Given the description of an element on the screen output the (x, y) to click on. 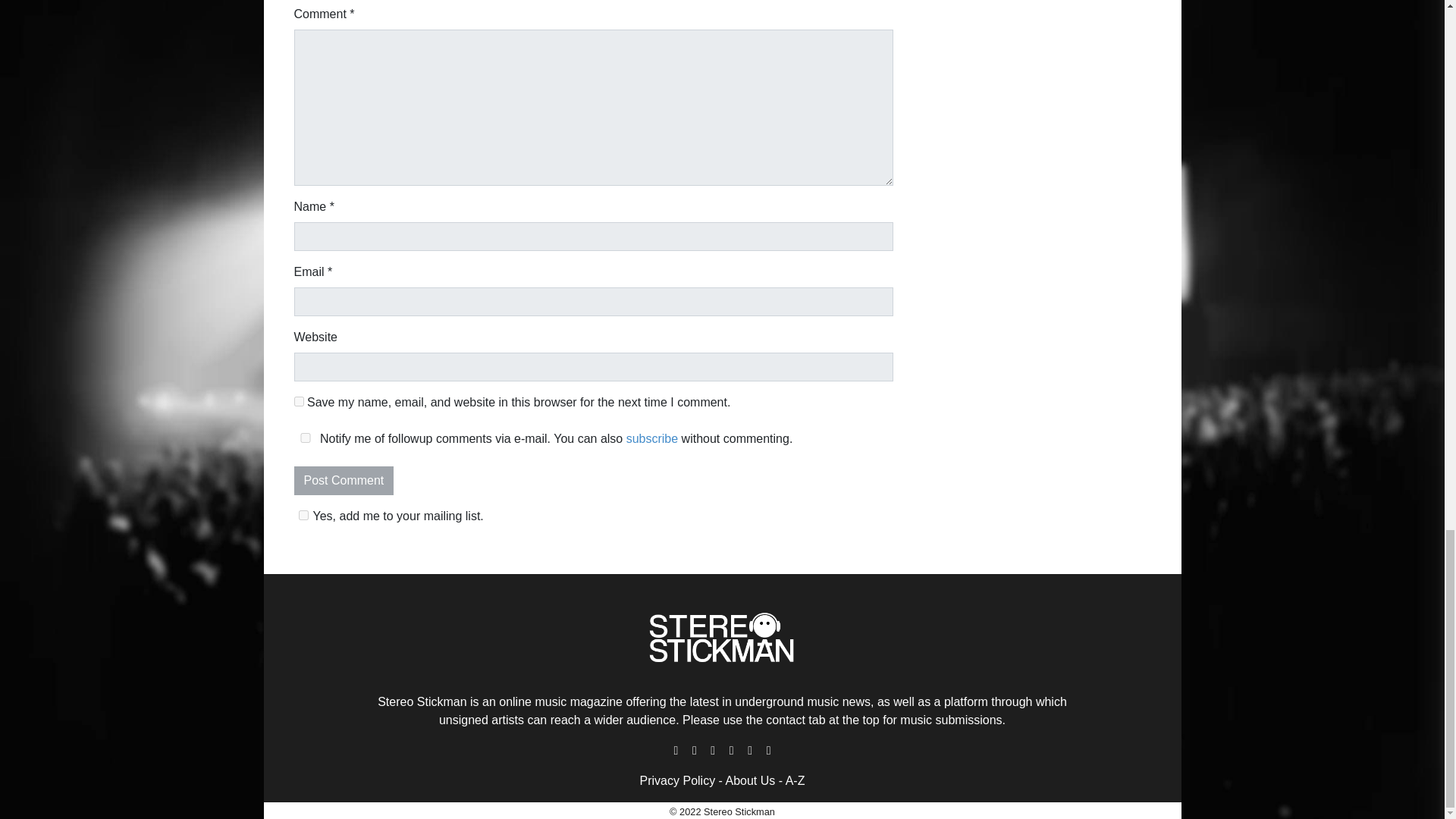
1 (303, 515)
subscribe (652, 438)
Post Comment (344, 480)
Post Comment (344, 480)
yes (305, 438)
yes (299, 401)
